Given the description of an element on the screen output the (x, y) to click on. 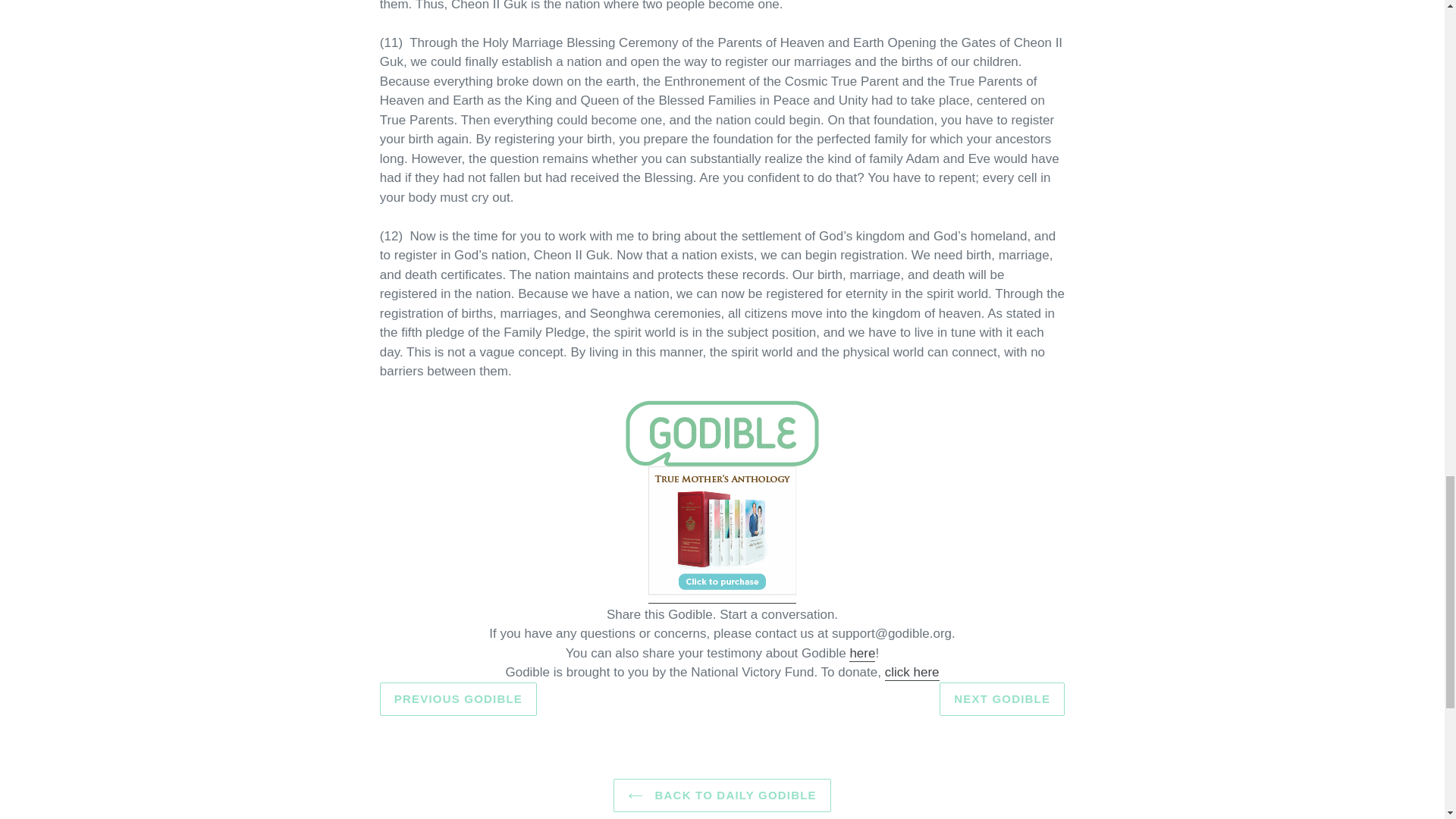
BACK TO DAILY GODIBLE (721, 795)
here (861, 653)
click here (912, 672)
PREVIOUS GODIBLE (458, 699)
NEXT GODIBLE (1001, 699)
